Given the description of an element on the screen output the (x, y) to click on. 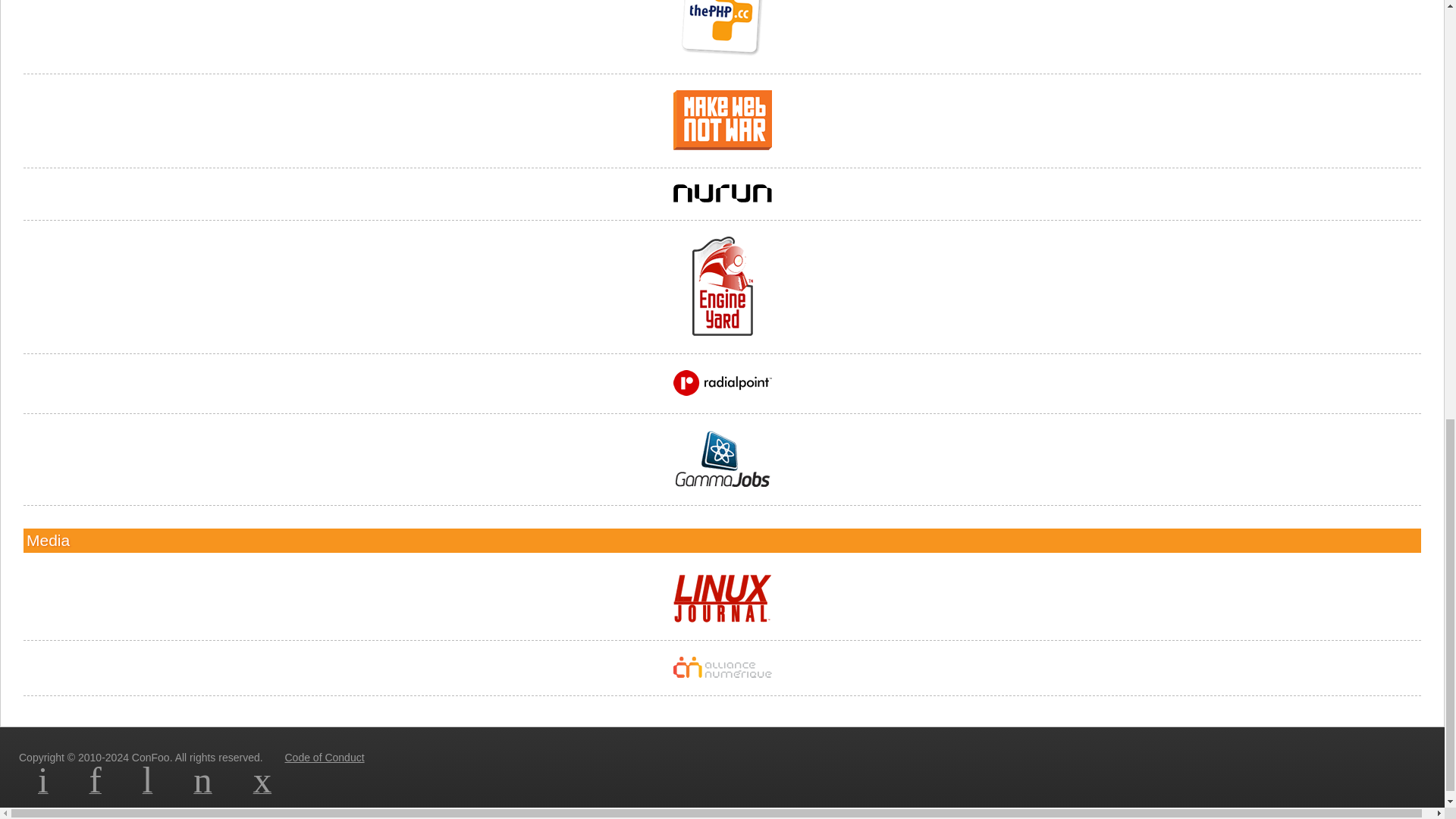
Flickr photos (202, 788)
YouTube channel (262, 788)
Twitter feed (147, 788)
LinkedIn group (42, 788)
Code of Conduct (323, 757)
Facebook page (94, 788)
